Given the description of an element on the screen output the (x, y) to click on. 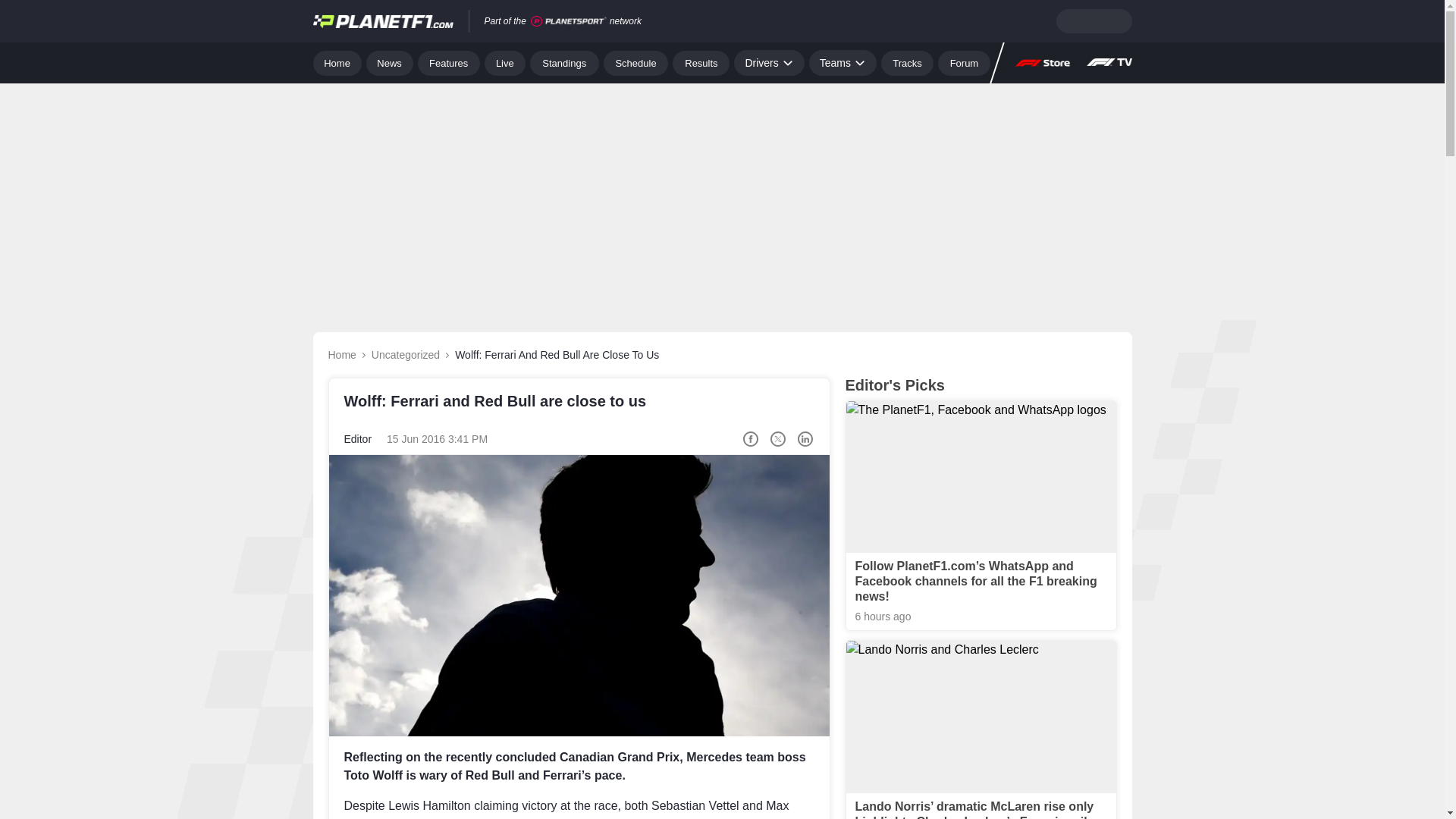
Home (337, 62)
Standings (563, 62)
News (389, 62)
Results (700, 62)
Features (448, 62)
Teams (842, 62)
Drivers (768, 62)
Live (504, 62)
Schedule (636, 62)
